Given the description of an element on the screen output the (x, y) to click on. 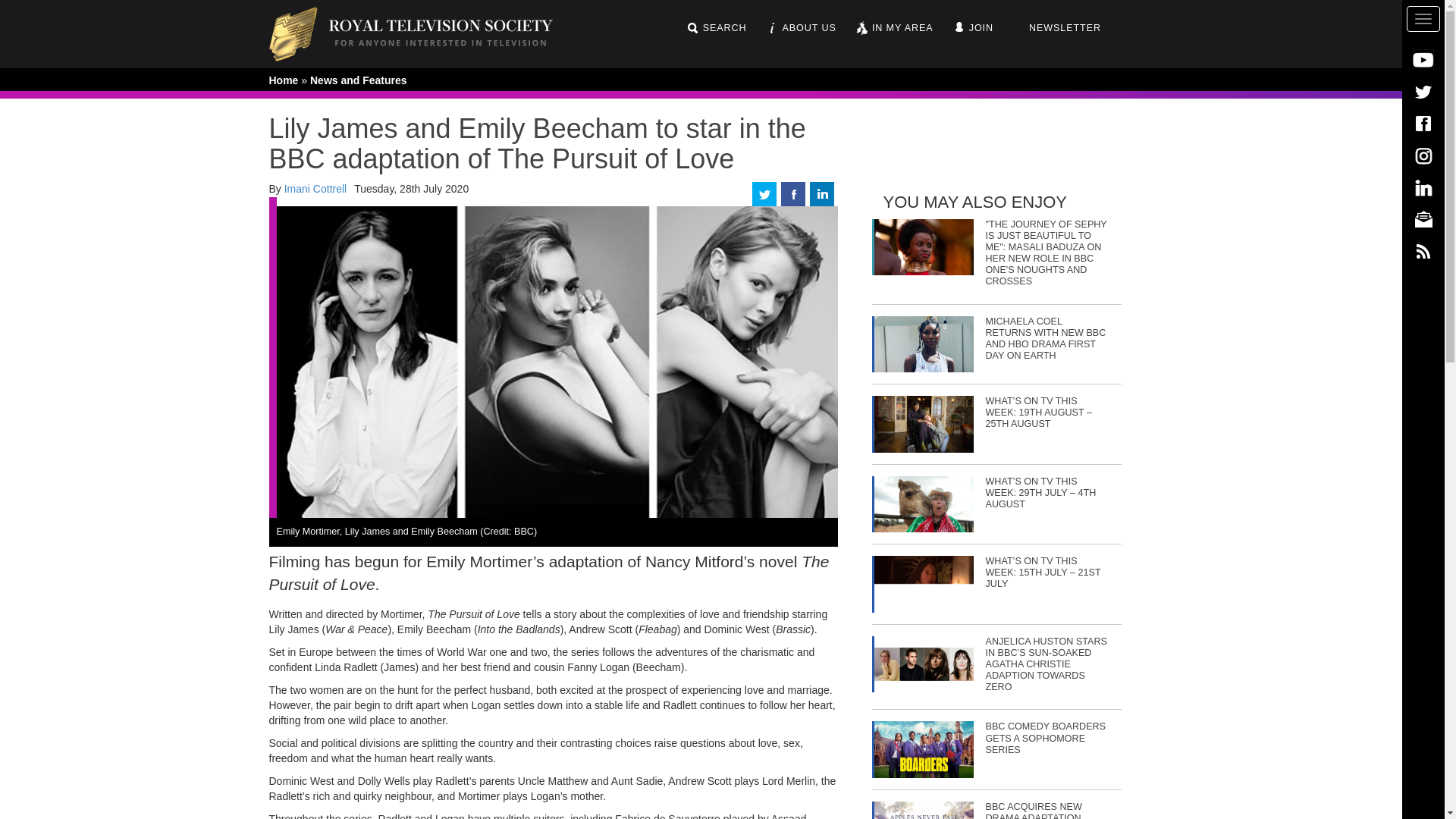
Toggle navigation (1422, 18)
Share on LinkedIn (821, 192)
NEWSLETTER (1055, 28)
Twitter (1423, 91)
Home (421, 33)
RSS (1423, 250)
Contact Us (1423, 218)
ABOUT US (800, 28)
Instagram (1423, 154)
YouTube (1423, 59)
